Given the description of an element on the screen output the (x, y) to click on. 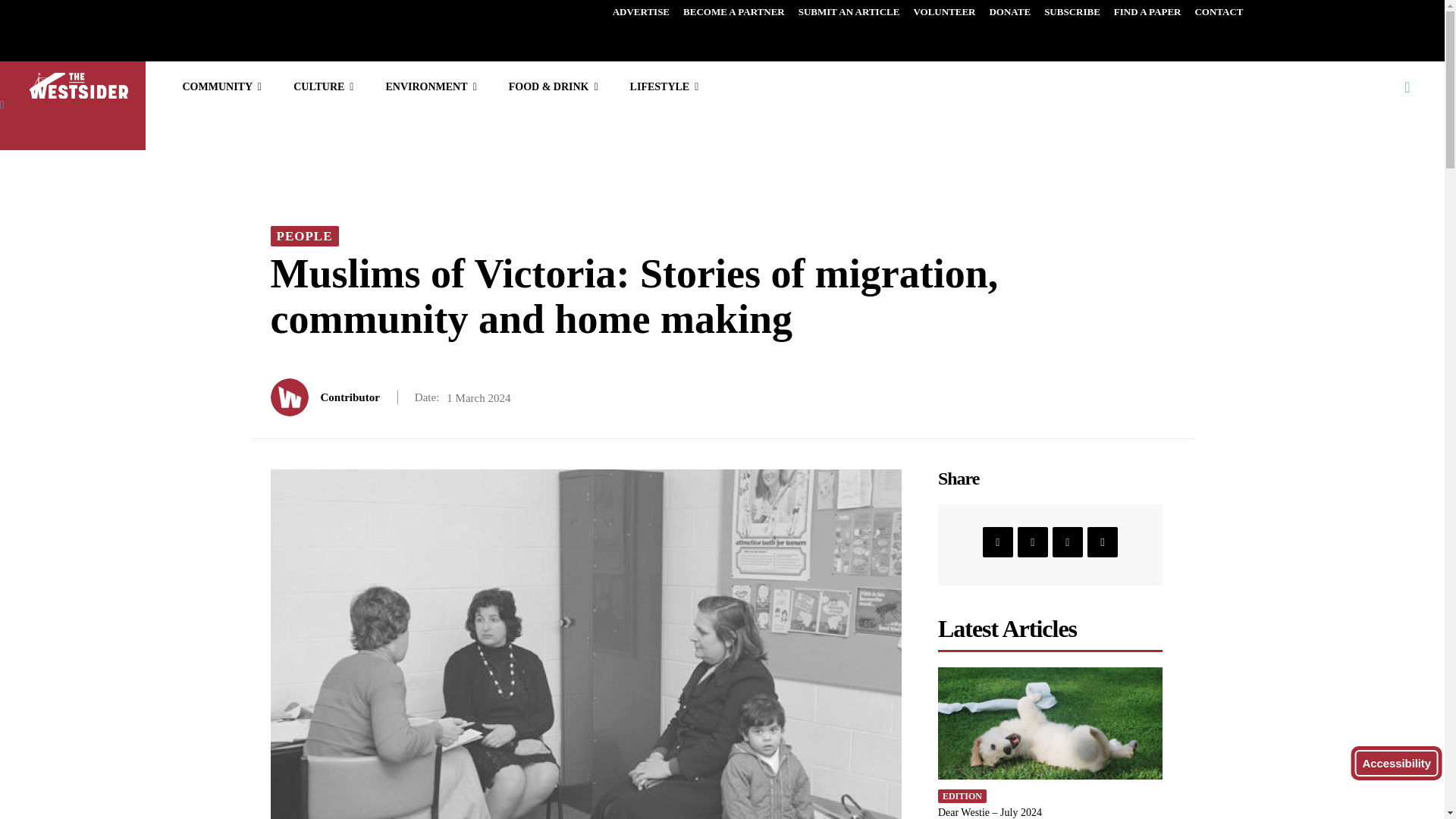
CONTACT (1218, 12)
Accessibility Menu (1396, 763)
FIND A PAPER (1147, 12)
BECOME A PARTNER (734, 12)
SUBMIT AN ARTICLE (849, 12)
ADVERTISE (641, 12)
VOLUNTEER (943, 12)
SUBSCRIBE (1071, 12)
COMMUNITY (221, 87)
DONATE (1008, 12)
